Given the description of an element on the screen output the (x, y) to click on. 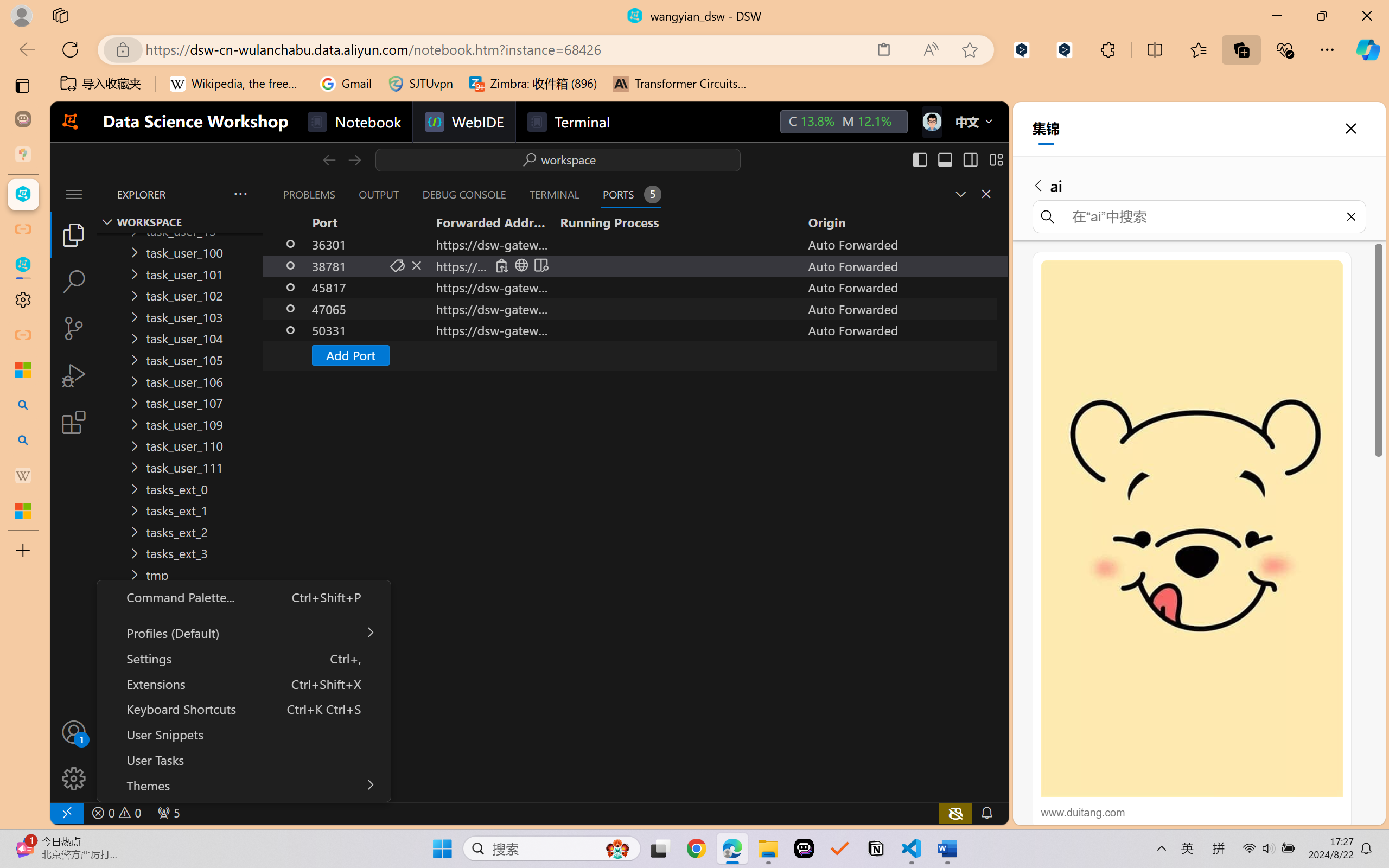
Profiles (Default) (243, 632)
Problems (Ctrl+Shift+M) (308, 194)
Accounts - Sign in requested (73, 732)
Keyboard Shortcuts Ctrl+K Ctrl+S (243, 709)
Gmail (345, 83)
